Given the description of an element on the screen output the (x, y) to click on. 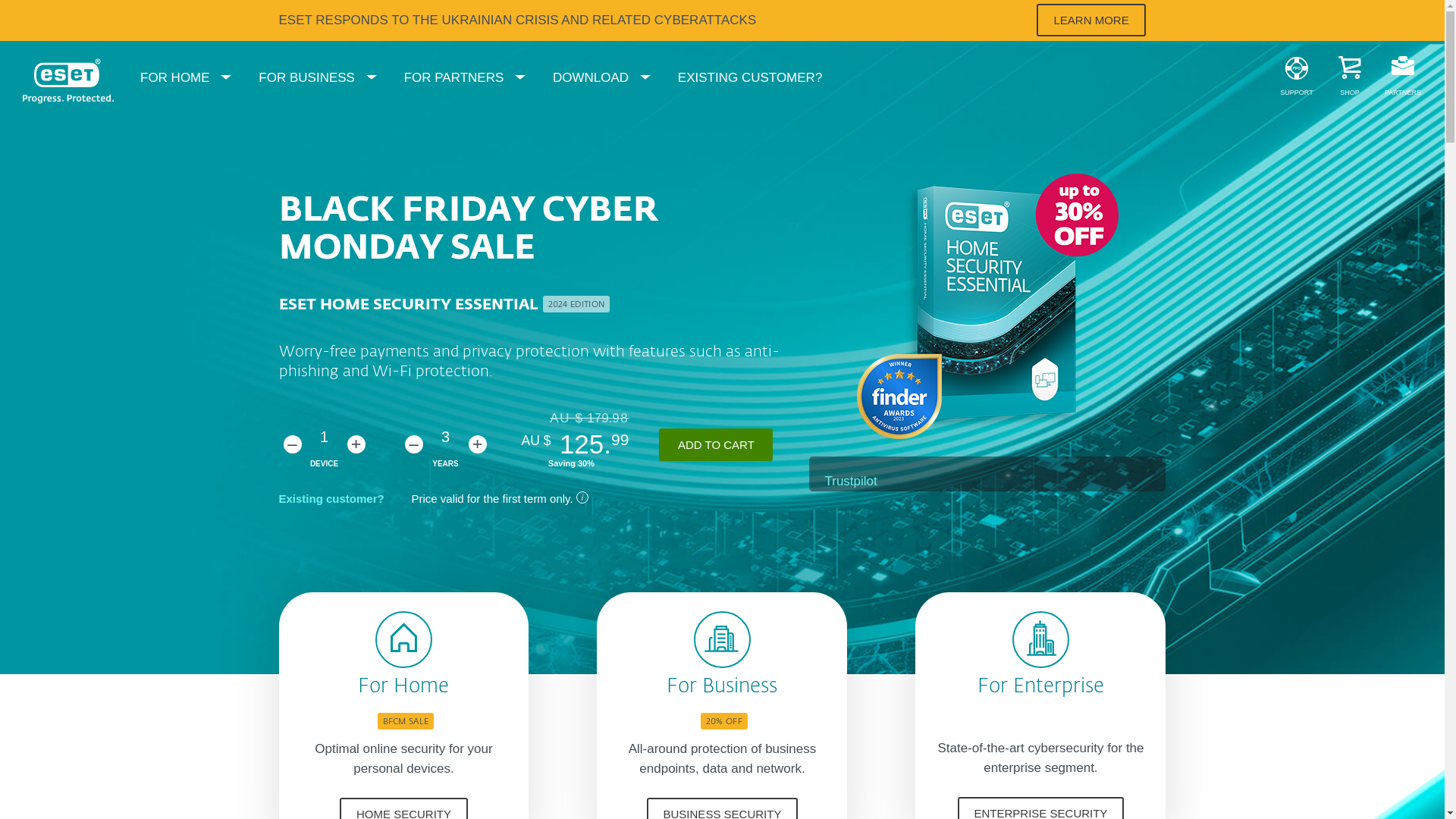
2024 EDITION Element type: text (575, 304)
For Enterprise Element type: text (1040, 686)
PARTNERS Element type: text (1402, 78)
LEARN MORE Element type: text (1090, 19)
EXISTING CUSTOMER? Element type: text (749, 78)
SHOP Element type: text (1349, 78)
Trustpilot Element type: text (850, 480)
FOR PARTNERS Element type: text (464, 78)
For Business Element type: text (721, 686)
FOR HOME Element type: text (185, 78)
SUPPORT Element type: text (1296, 78)
ADD TO CART Element type: text (715, 444)
For Home Element type: text (402, 686)
ESET Element type: text (67, 80)
DOWNLOAD Element type: text (601, 78)
Existing customer? Element type: text (331, 498)
FOR BUSINESS Element type: text (317, 78)
